Given the description of an element on the screen output the (x, y) to click on. 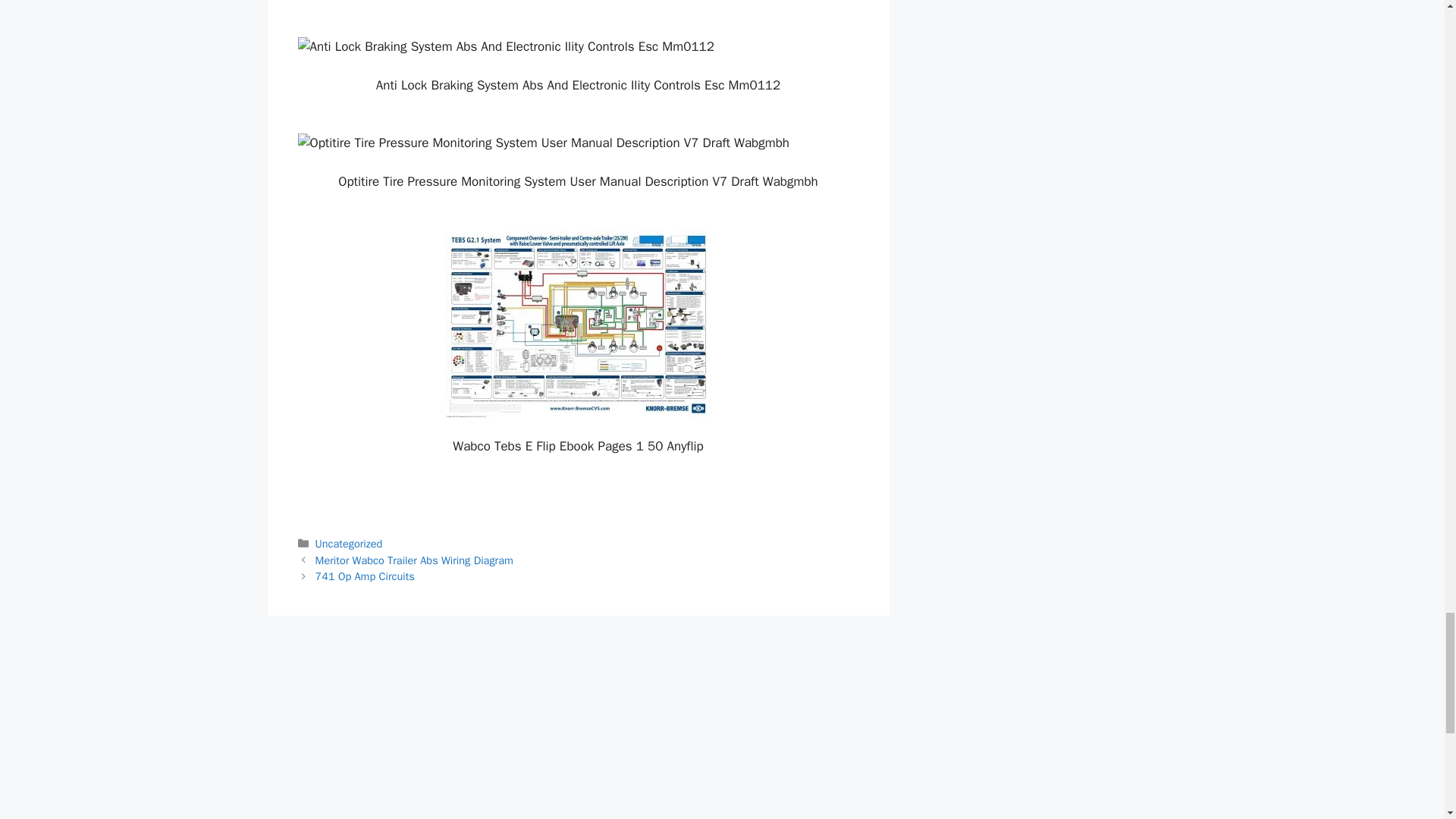
Meritor Wabco Trailer Abs Wiring Diagram (414, 560)
741 Op Amp Circuits (364, 576)
Uncategorized (348, 543)
